Given the description of an element on the screen output the (x, y) to click on. 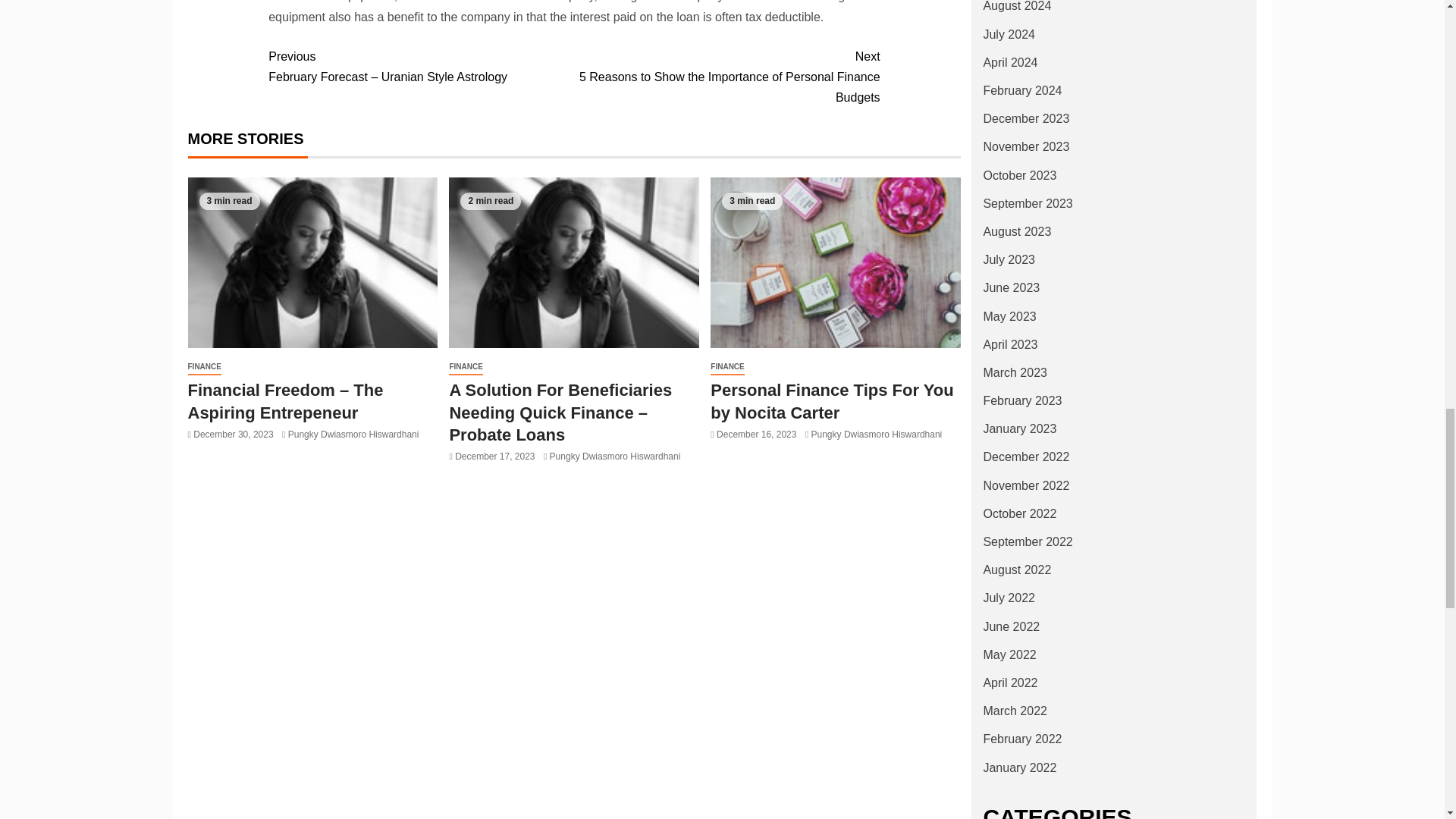
Personal Finance Tips For You by Nocita Carter (835, 262)
Pungky Dwiasmoro Hiswardhani (353, 434)
FINANCE (204, 367)
